Given the description of an element on the screen output the (x, y) to click on. 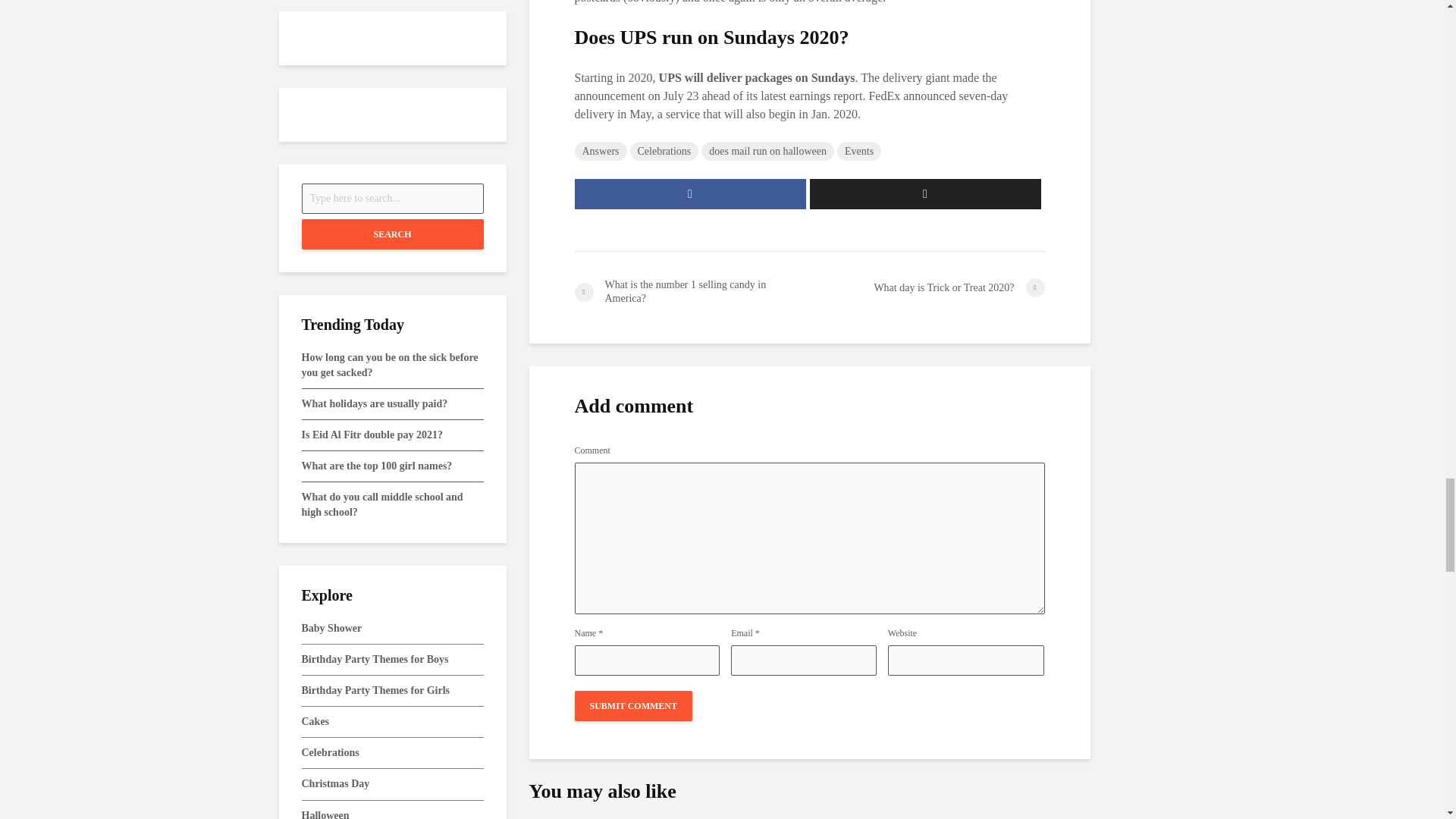
Answers (601, 150)
Celebrations (663, 150)
Submit Comment (634, 706)
